Given the description of an element on the screen output the (x, y) to click on. 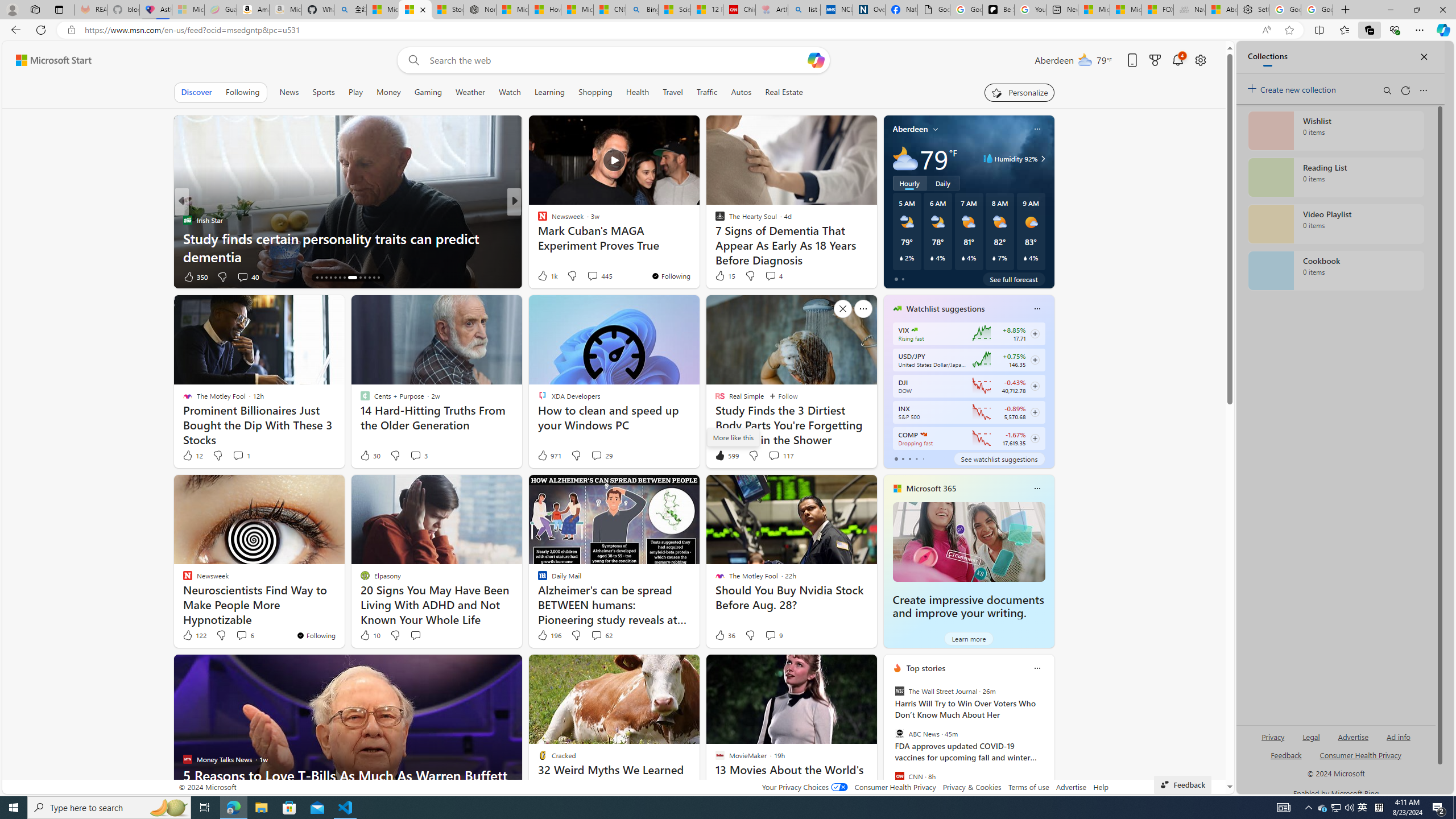
CBOE Market Volatility Index (914, 329)
View comments 62 Comment (595, 635)
previous (888, 741)
View comments 117 Comment (779, 455)
FOX News - MSN (1157, 9)
